Given the description of an element on the screen output the (x, y) to click on. 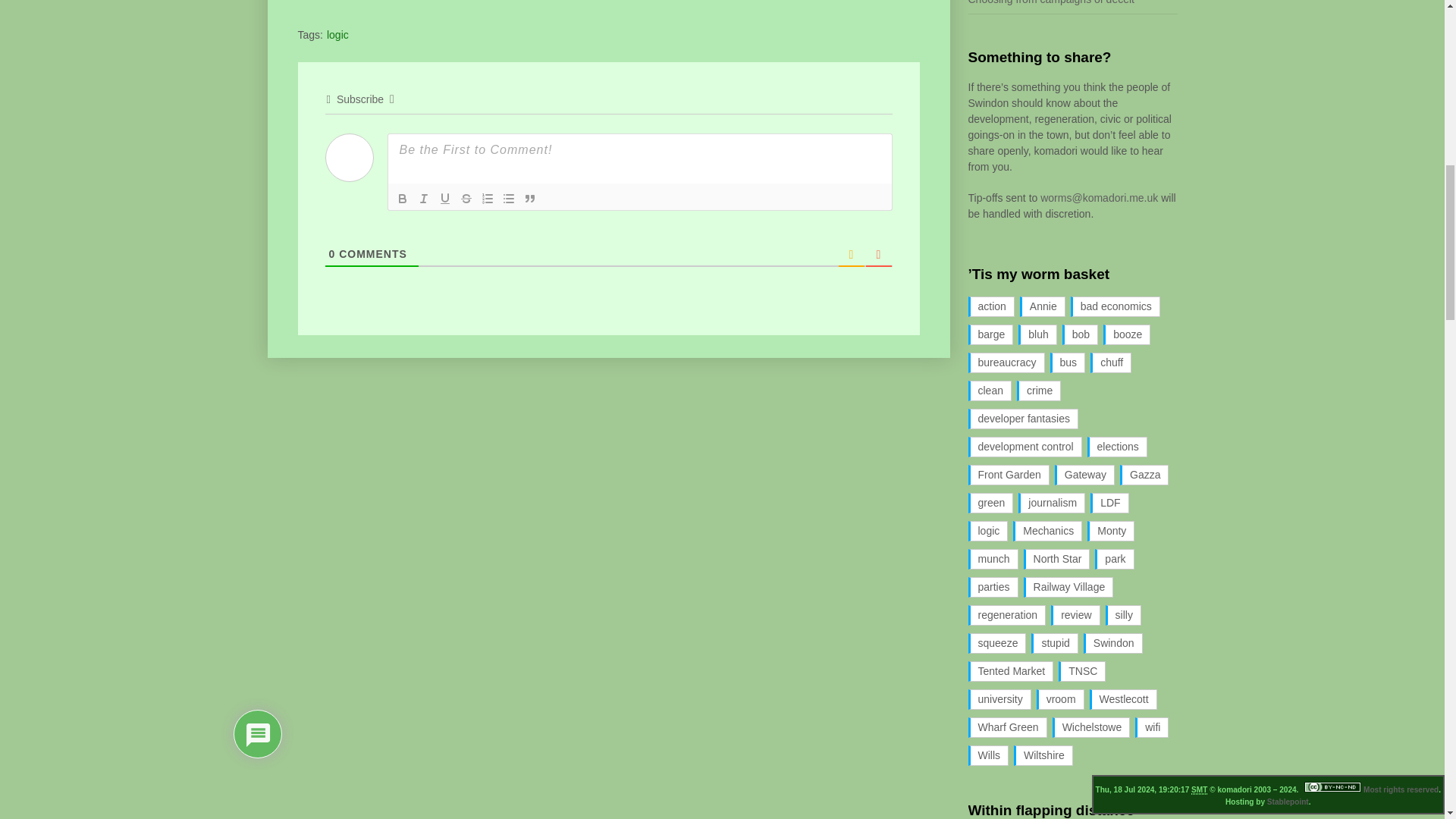
X (455, 3)
Italic (422, 198)
Facebook (311, 3)
ordered (486, 198)
Digg (369, 3)
X (455, 3)
logic (337, 34)
Mastodon (340, 3)
Bluesky (484, 3)
Bluesky (484, 3)
Facebook (311, 3)
Email (398, 3)
Share (513, 3)
Threads (426, 3)
Underline (443, 198)
